Given the description of an element on the screen output the (x, y) to click on. 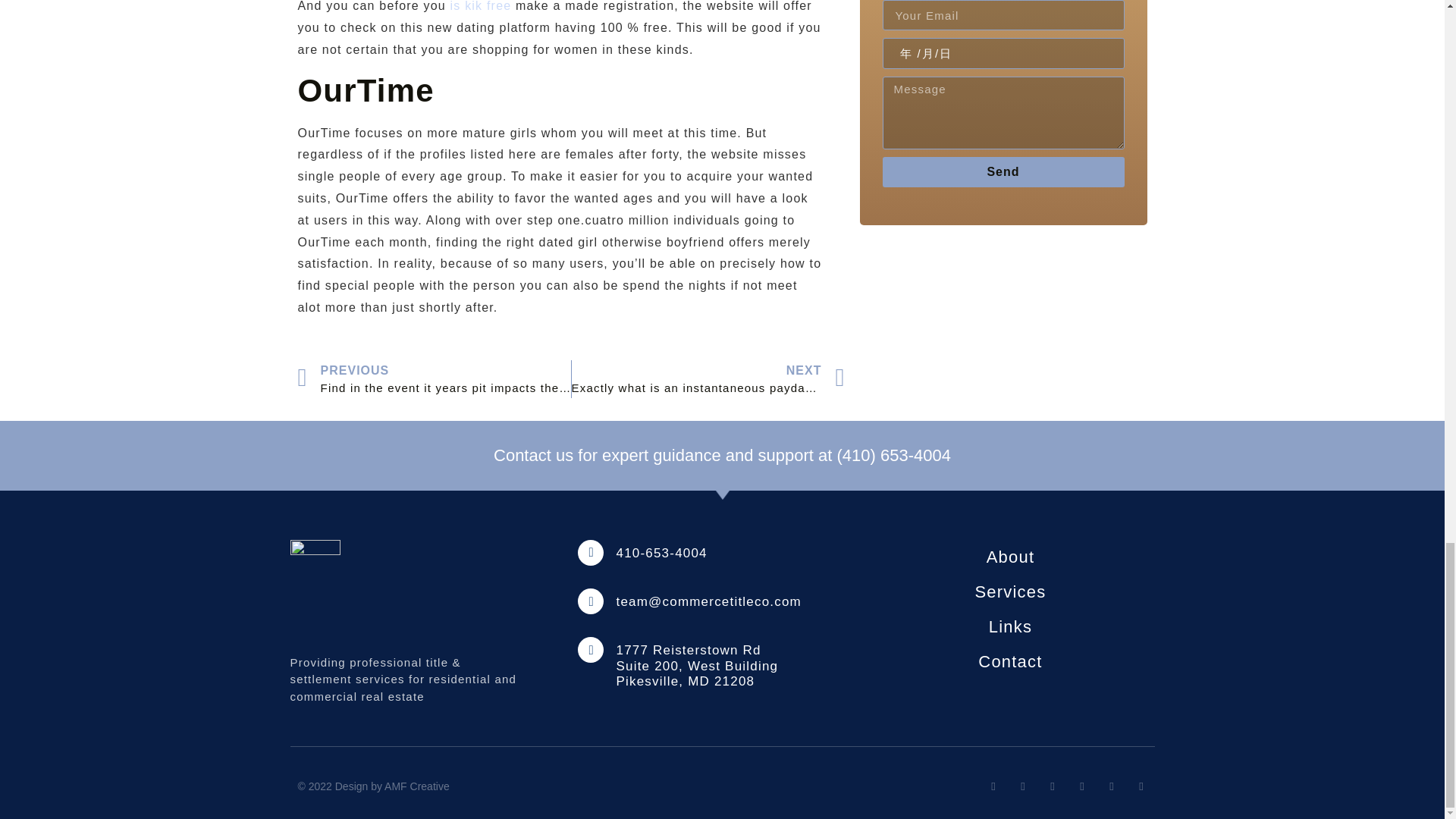
Services (1010, 591)
is kik free (480, 6)
410-653-4004 (660, 553)
Send (1003, 172)
Contact (1010, 661)
Links (1010, 626)
About (1010, 556)
